Given the description of an element on the screen output the (x, y) to click on. 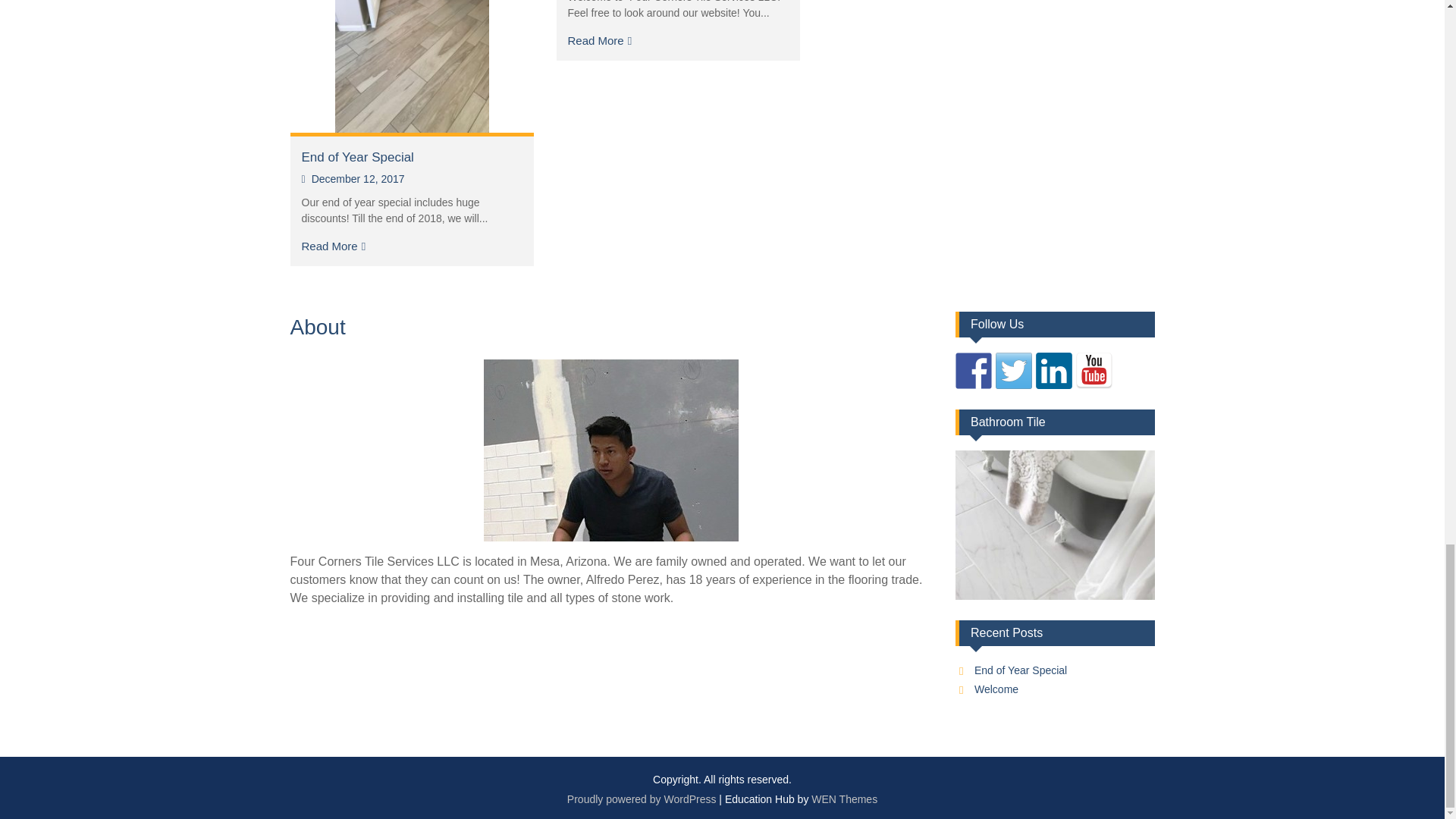
End of Year Special (357, 156)
End of Year Special (1020, 670)
Read More (333, 245)
Proudly powered by WordPress (641, 799)
Find us on Linkedin (1053, 370)
Follow us on Facebook (973, 370)
Read More (599, 40)
December 12, 2017 (352, 178)
Find us on YouTube (1093, 370)
Welcome (995, 689)
Follow us on Twitter (1013, 370)
